Given the description of an element on the screen output the (x, y) to click on. 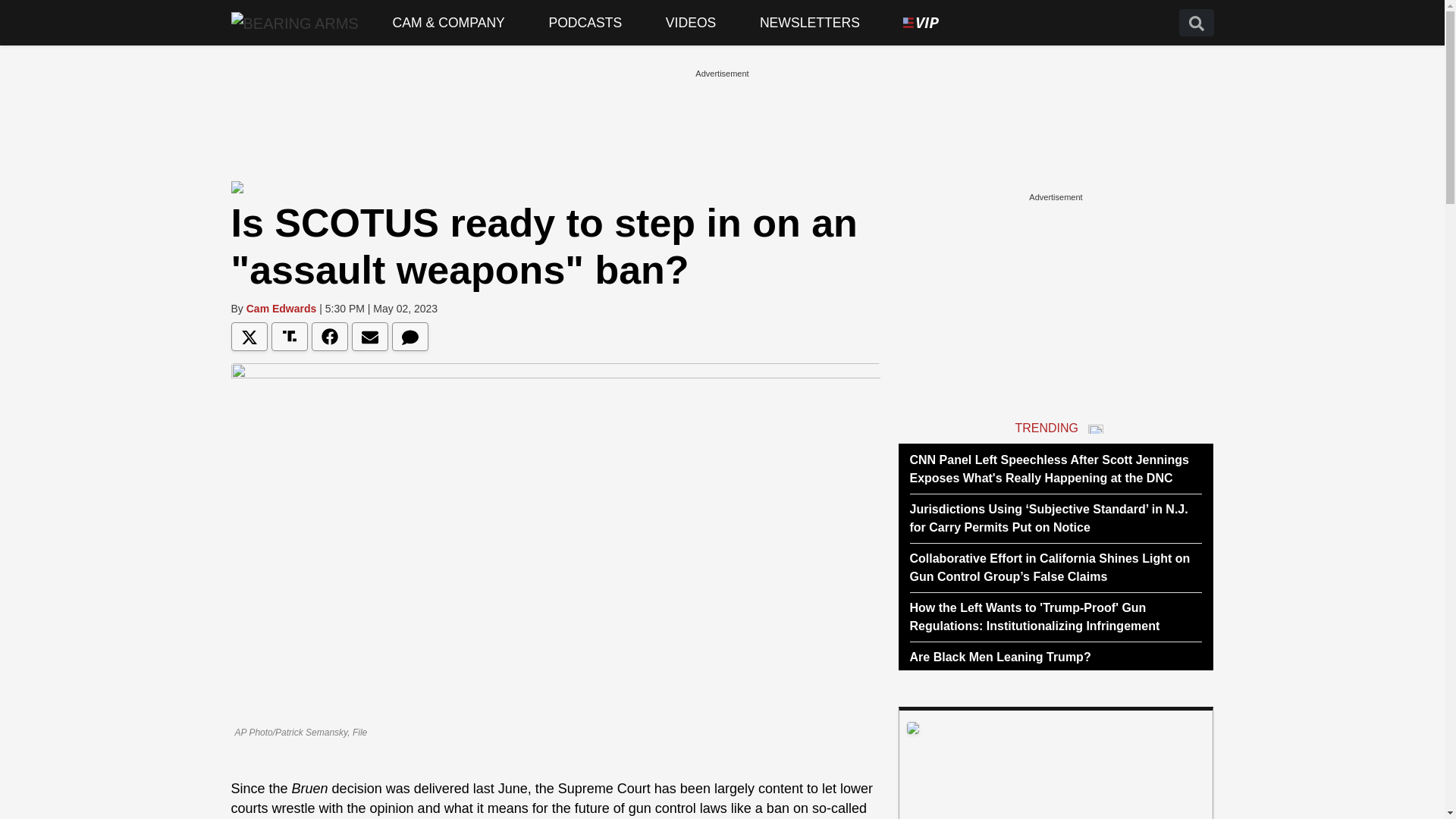
Bearing Arms (294, 22)
Videos (690, 22)
Newsletters (810, 22)
VIP (920, 22)
Podcasts (585, 22)
NEWSLETTERS (810, 22)
VIDEOS (690, 22)
Site Search (1194, 22)
PODCASTS (585, 22)
